Given the description of an element on the screen output the (x, y) to click on. 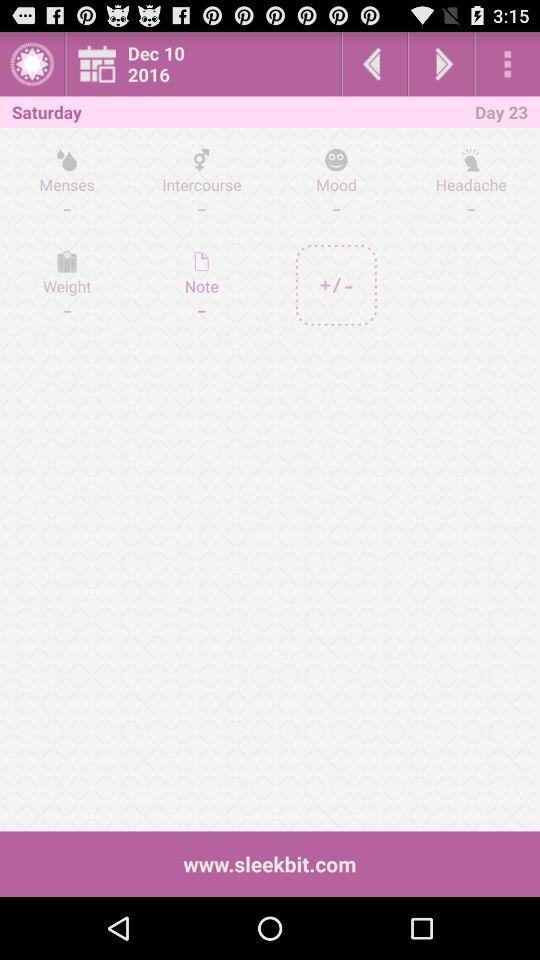
go to next day (441, 63)
